Given the description of an element on the screen output the (x, y) to click on. 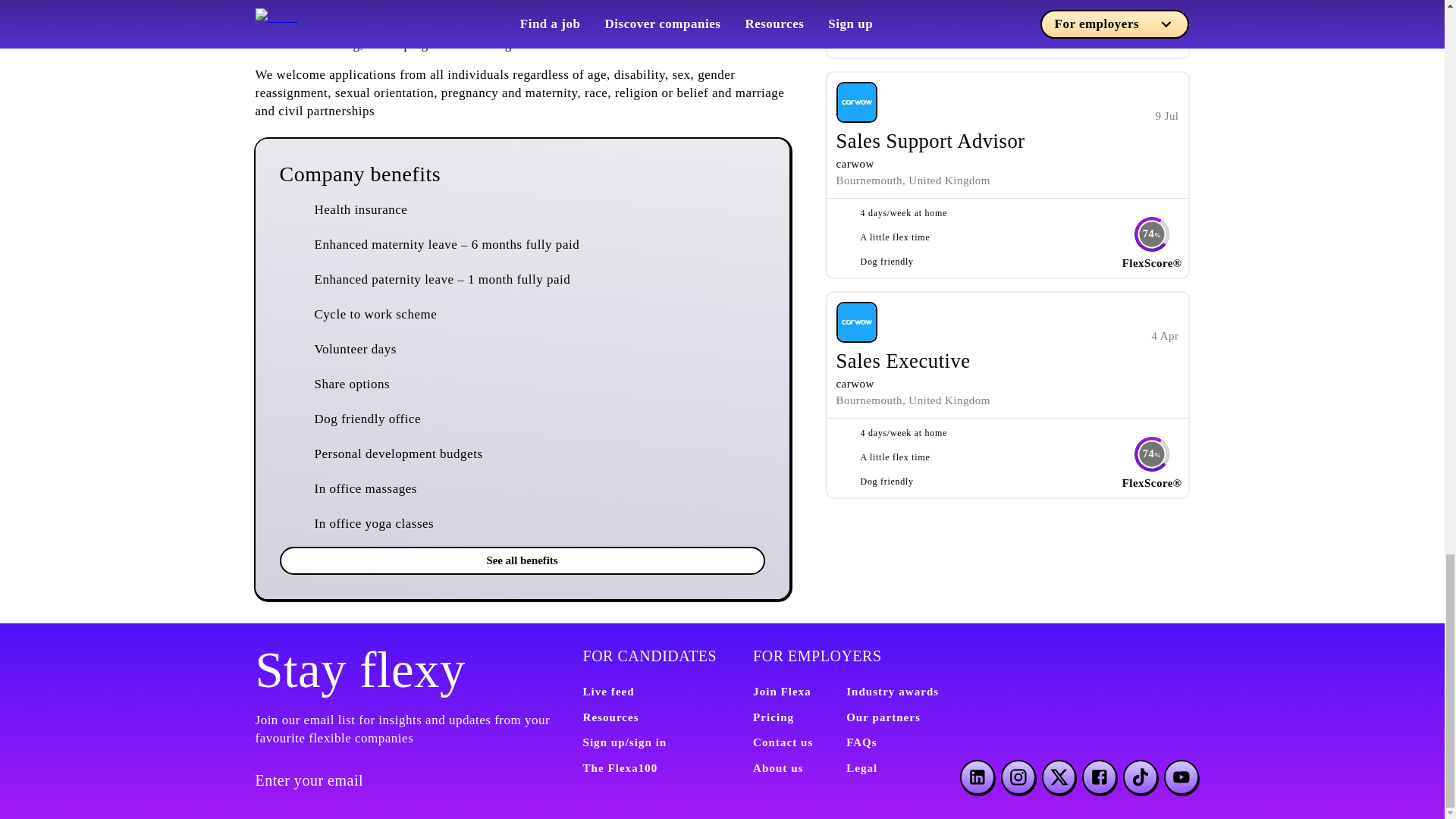
Resources (610, 717)
Industry awards (892, 691)
Legal (861, 767)
Join Flexa (781, 691)
Sales Support Advisor (930, 140)
Sales Executive (902, 360)
FAQs (861, 742)
carwow (854, 383)
The Flexa100 (620, 767)
See all benefits (521, 560)
carwow (854, 163)
About us (777, 767)
Contact us (782, 742)
Our partners (882, 717)
Live feed (607, 691)
